Given the description of an element on the screen output the (x, y) to click on. 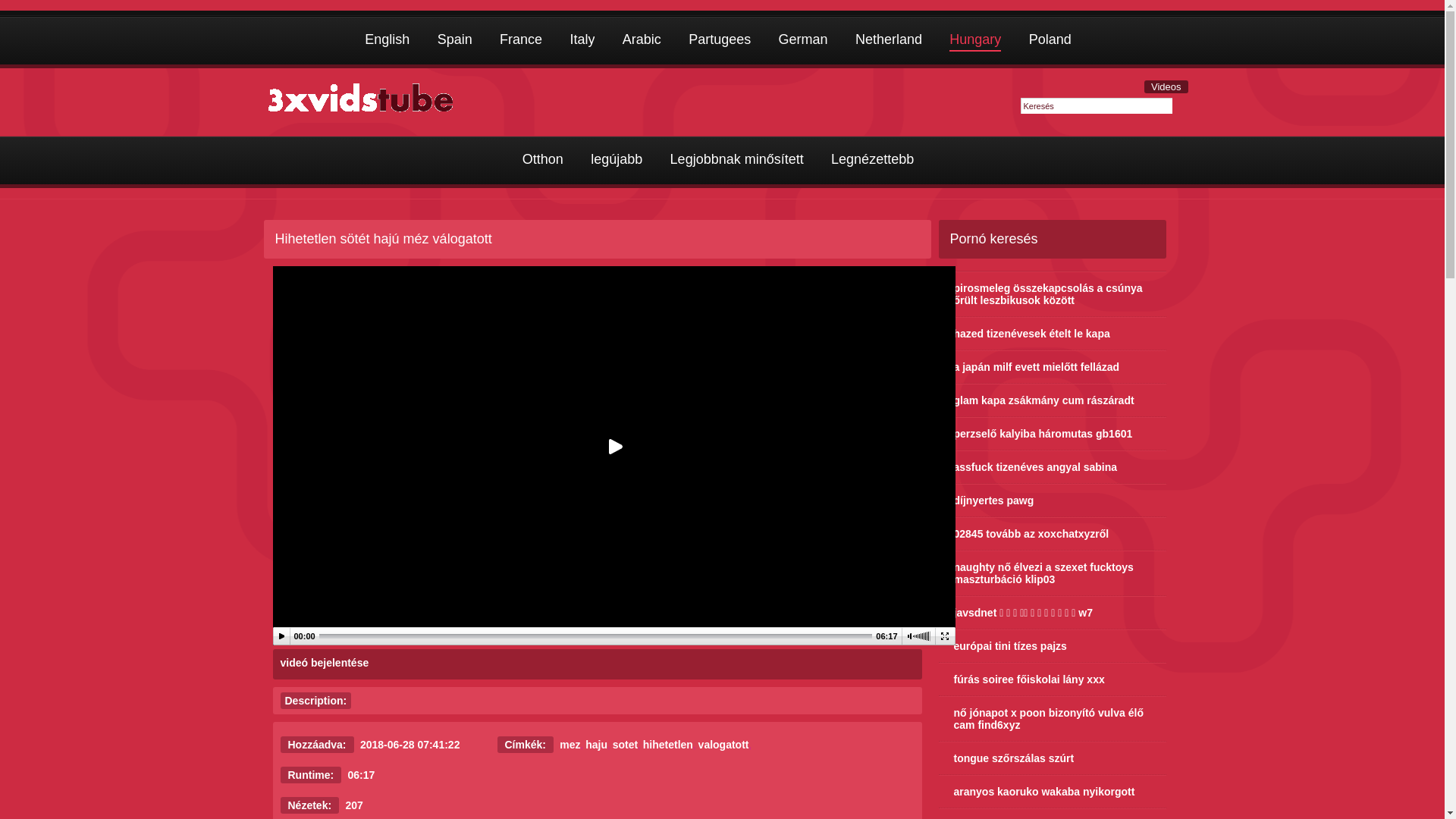
France Element type: text (520, 40)
Italy Element type: text (581, 40)
sotet Element type: text (624, 744)
aranyos kaoruko wakaba nyikorgott Element type: text (1052, 791)
Hungary Element type: text (975, 40)
Spain Element type: text (454, 40)
valogatott Element type: text (723, 744)
English Element type: text (386, 40)
Netherland Element type: text (888, 40)
hihetetlen Element type: text (668, 744)
Videos Element type: text (1166, 86)
mez Element type: text (569, 744)
Poland Element type: text (1050, 40)
Arabic Element type: text (641, 40)
Otthon Element type: text (542, 160)
Partugees Element type: text (719, 40)
haju Element type: text (596, 744)
German Element type: text (803, 40)
